Given the description of an element on the screen output the (x, y) to click on. 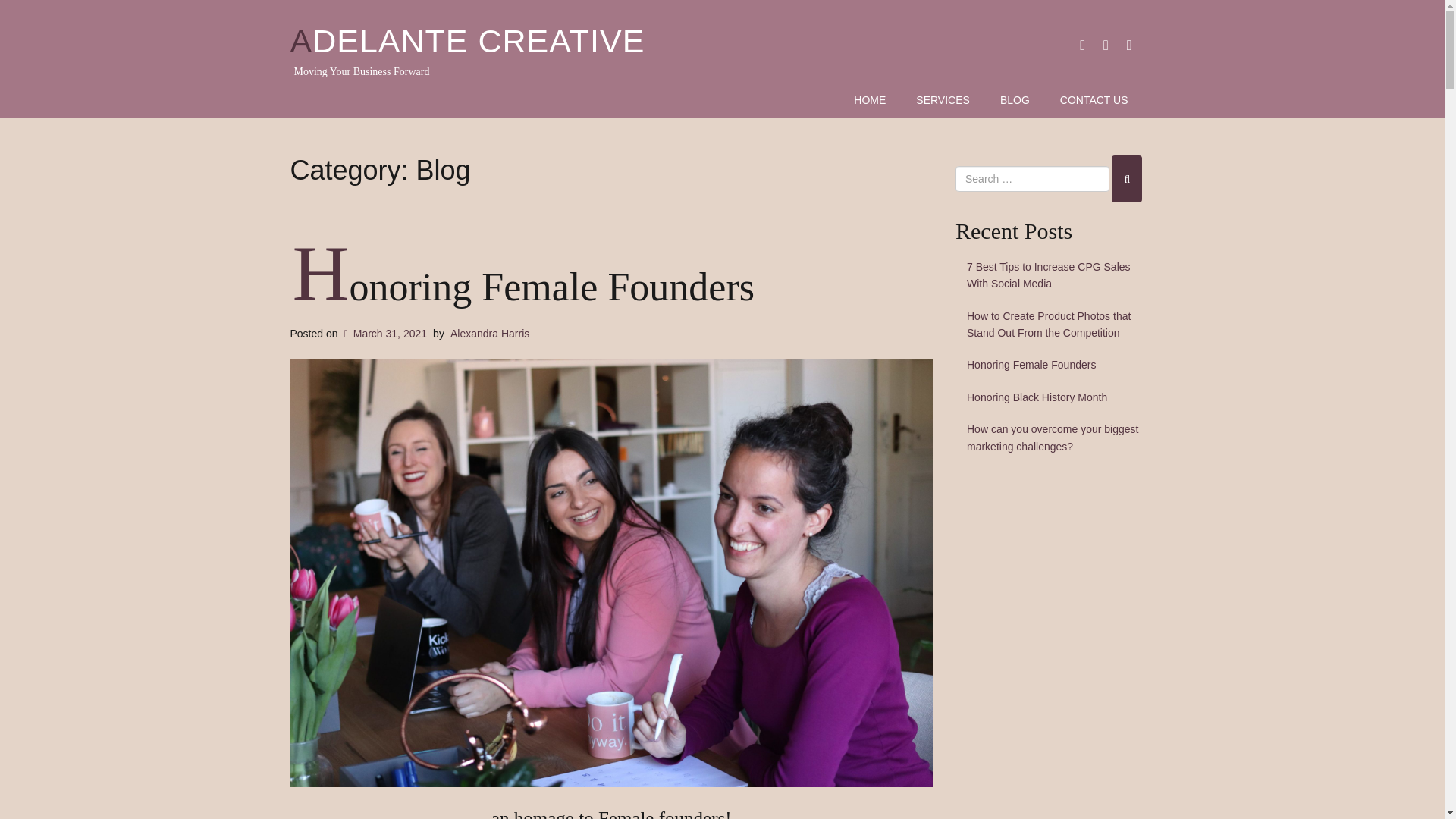
LinkedIn (1105, 44)
Alexandra Harris (489, 333)
ADELANTE CREATIVE (467, 40)
Honoring Female Founders (523, 286)
CONTACT US (1093, 101)
BLOG (1015, 101)
March 31, 2021 (383, 333)
LINKEDIN (1105, 44)
FACEBOOK (1082, 44)
SERVICES (943, 101)
